Given the description of an element on the screen output the (x, y) to click on. 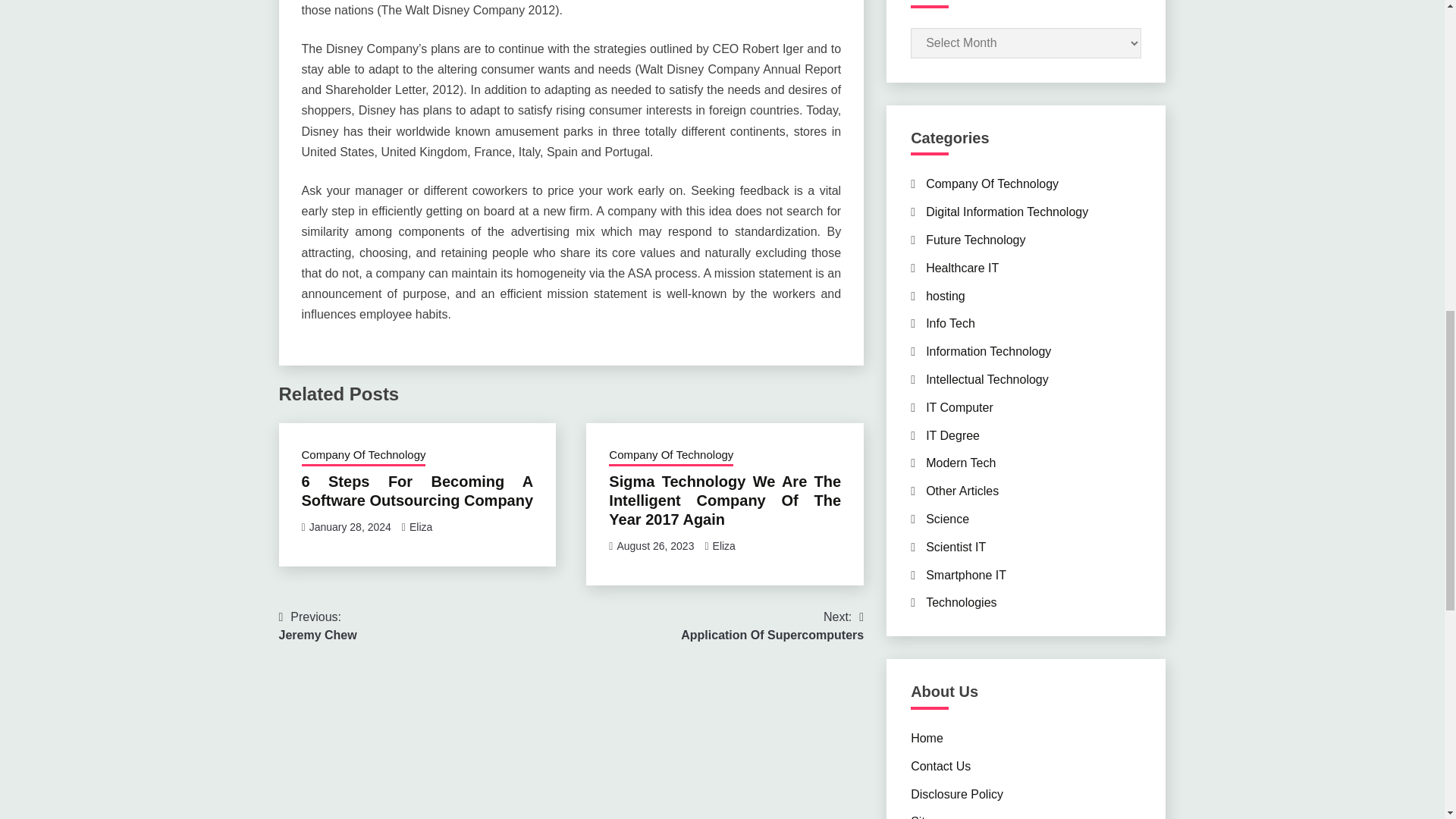
Eliza (420, 526)
Company Of Technology (670, 456)
August 26, 2023 (317, 626)
Company Of Technology (654, 545)
6 Steps For Becoming A Software Outsourcing Company (363, 456)
January 28, 2024 (417, 490)
Eliza (349, 526)
